Given the description of an element on the screen output the (x, y) to click on. 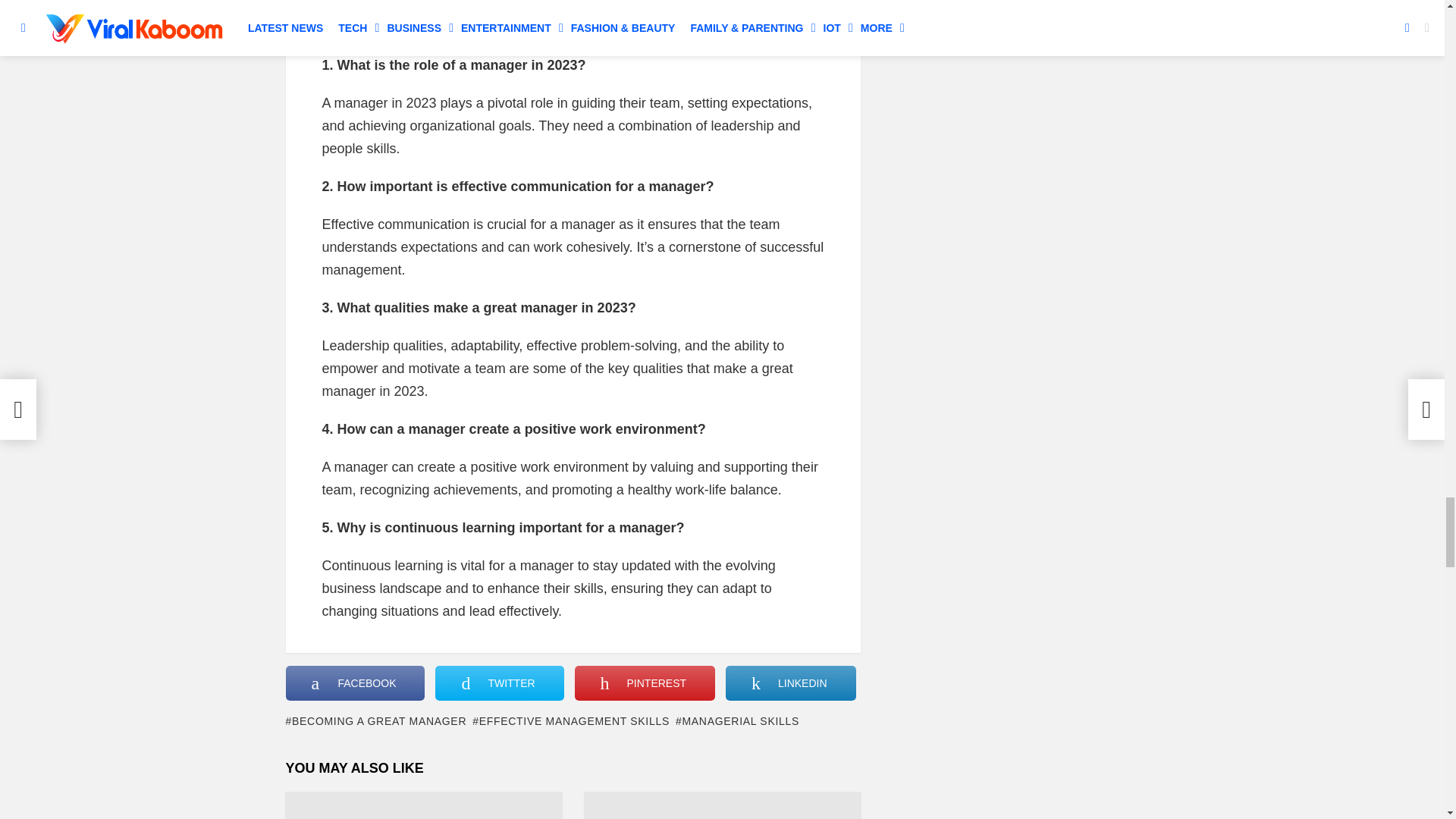
Share on Twitter (499, 683)
Share on LinkedIn (790, 683)
Share on Facebook (355, 683)
Share on Pinterest (644, 683)
